Given the description of an element on the screen output the (x, y) to click on. 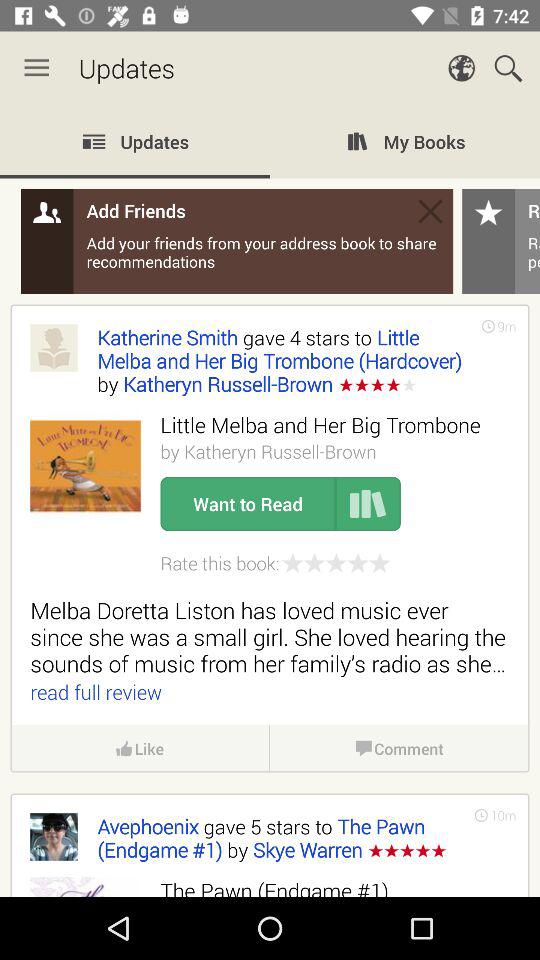
get the latest updates (270, 501)
